Given the description of an element on the screen output the (x, y) to click on. 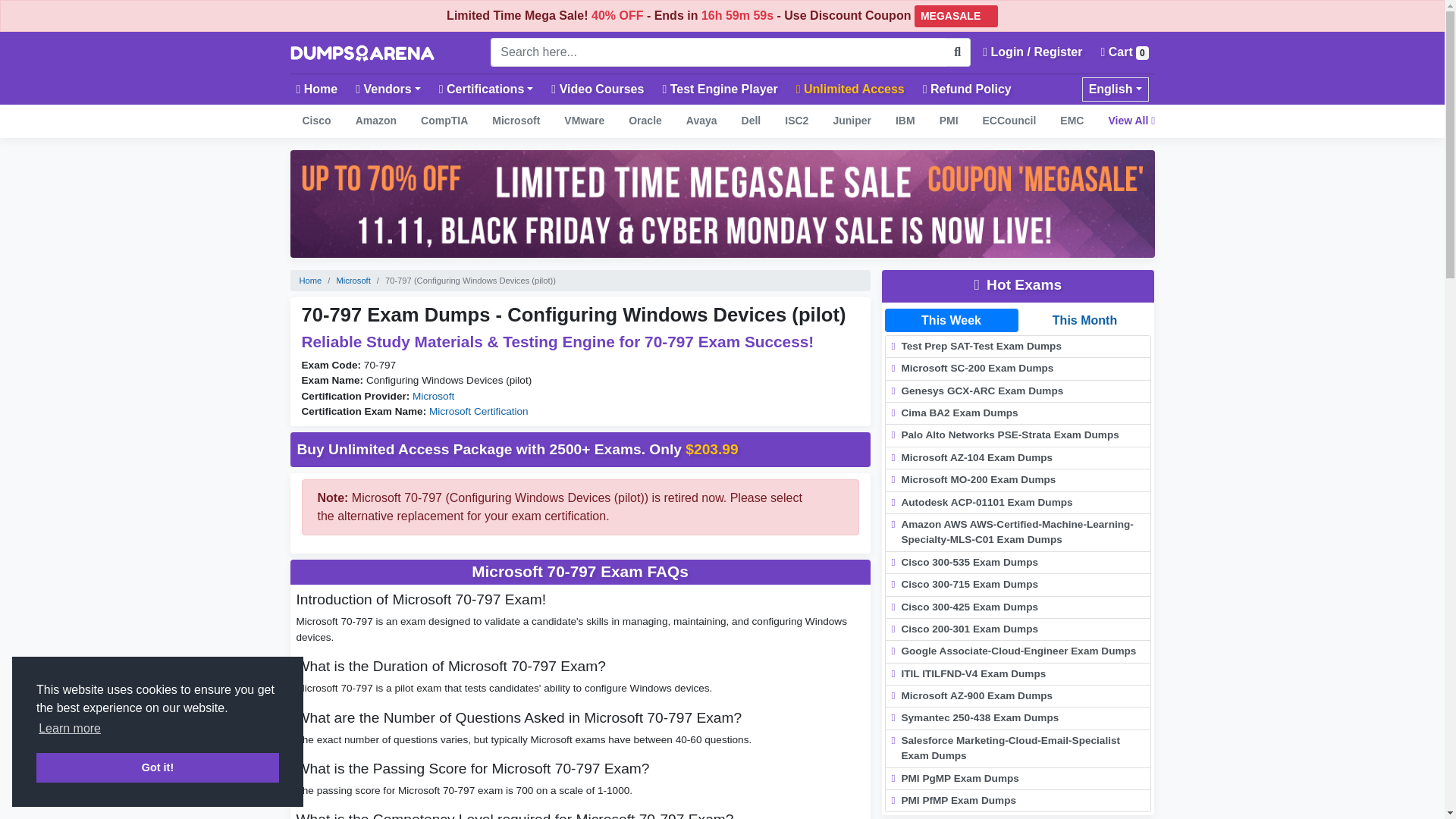
Learn more (69, 728)
Home (316, 88)
MEGASALE (955, 15)
Cart 0 (1124, 51)
Vendors (387, 88)
Got it! (157, 767)
